Given the description of an element on the screen output the (x, y) to click on. 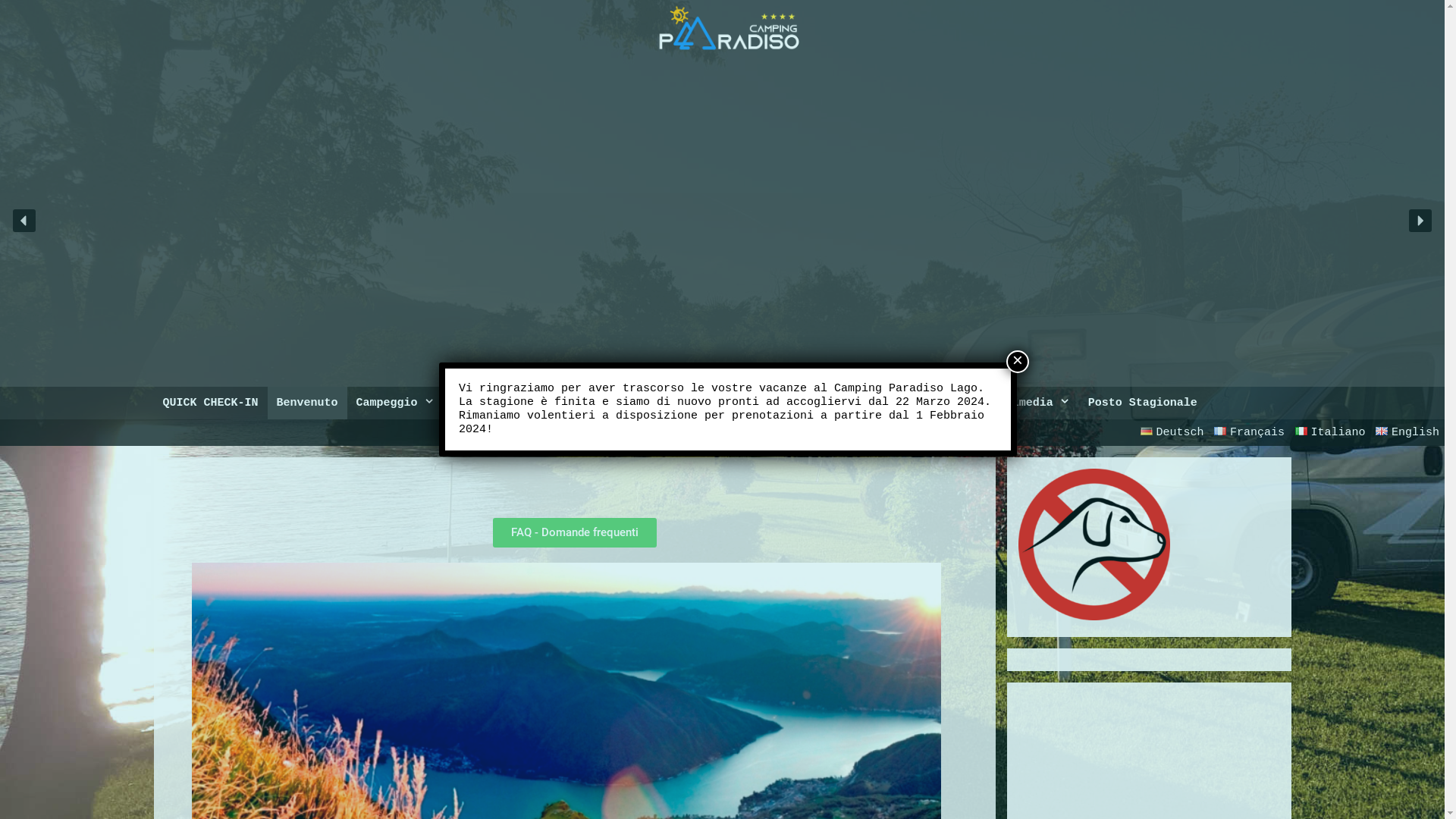
Posto Stagionale Element type: text (1142, 402)
Prenotazione Element type: text (501, 402)
Ristorazione Element type: text (725, 402)
Italiano Element type: text (1330, 432)
Ticino Ticket Element type: text (613, 402)
FAQ - Domande frequenti Element type: text (574, 532)
QUICK CHECK-IN Element type: text (209, 402)
Multimedia Element type: text (1027, 402)
Campeggio Element type: text (395, 402)
English Element type: text (1407, 432)
Benvenuto Element type: text (307, 402)
Deutsch Element type: text (1172, 432)
